Given the description of an element on the screen output the (x, y) to click on. 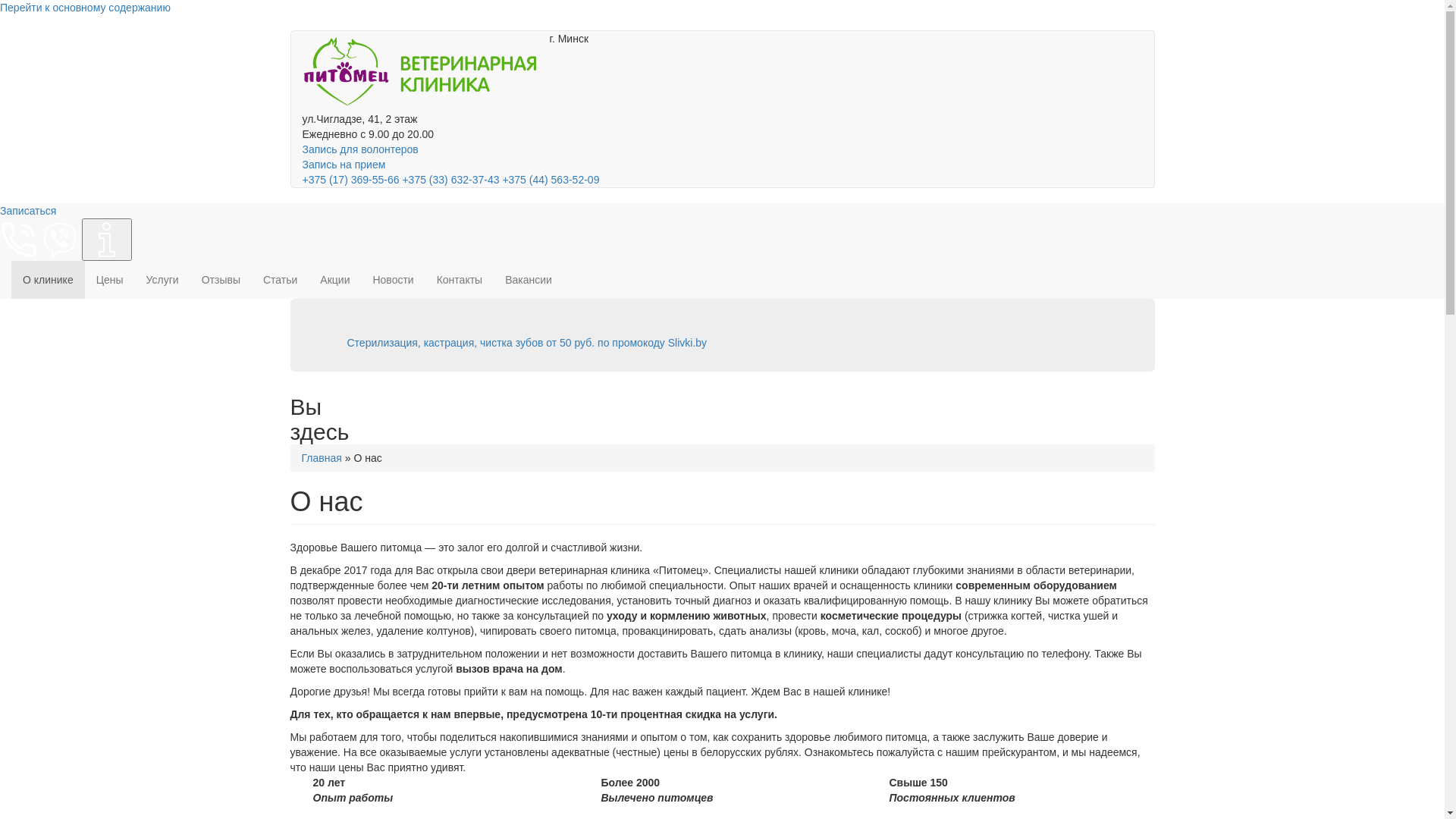
+375 (17) 369-55-66 Element type: text (349, 179)
+375 (44) 563-52-09 Element type: text (550, 179)
+375 (33) 632-37-43 Element type: text (449, 179)
